Given the description of an element on the screen output the (x, y) to click on. 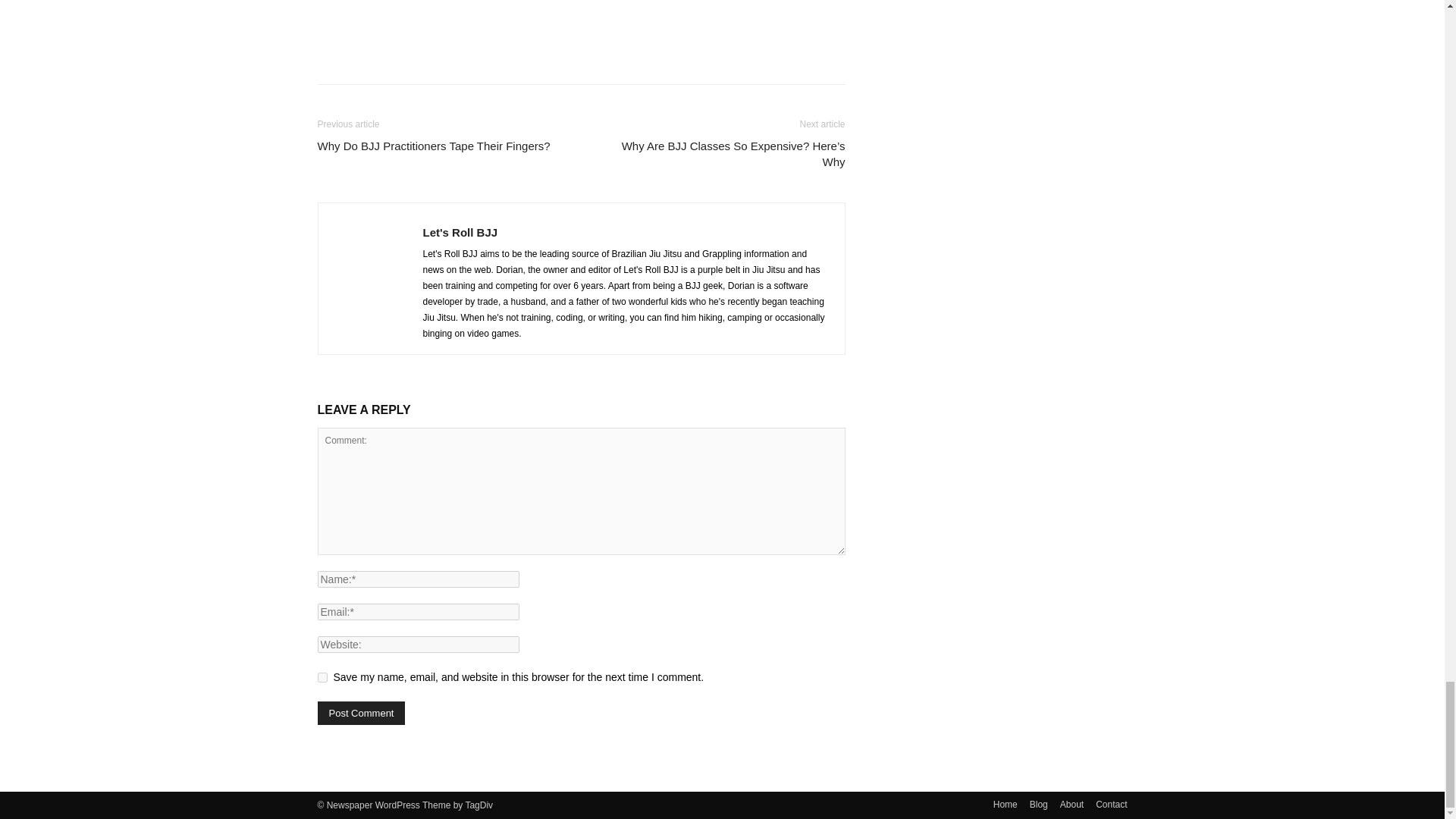
Post Comment (360, 712)
yes (321, 677)
